Given the description of an element on the screen output the (x, y) to click on. 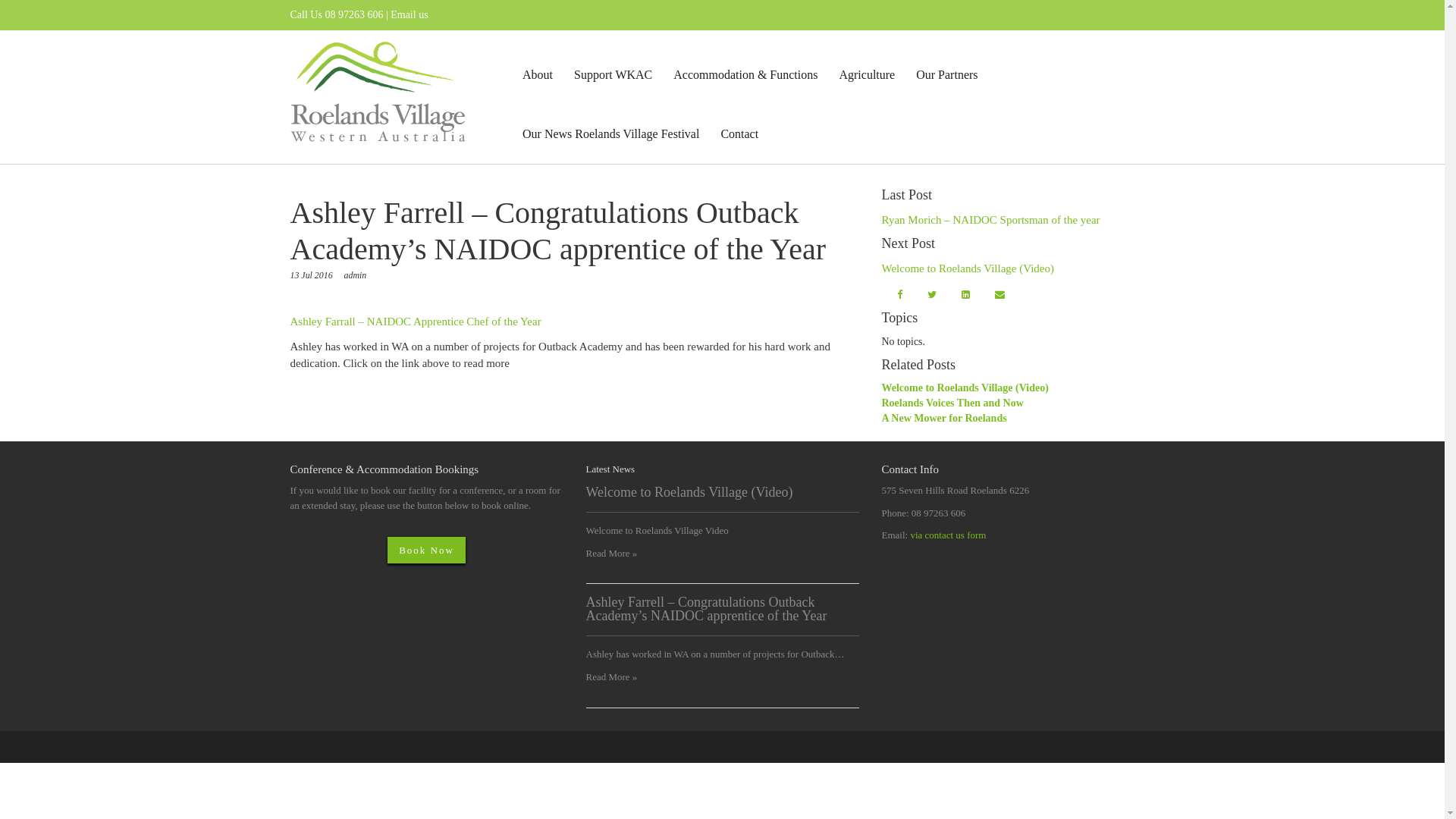
Support WKAC Element type: text (612, 74)
Welcome to Roelands Village (Video) Element type: text (964, 387)
via contact us form Element type: text (947, 534)
Agriculture Element type: text (866, 74)
Roelands Voices Then and Now Element type: text (951, 402)
Our News Roelands Village Festival Element type: text (610, 133)
Contact Element type: text (738, 133)
Accommodation & Functions Element type: text (745, 74)
Book Now Element type: text (426, 549)
A New Mower for Roelands Element type: text (943, 417)
Welcome to Roelands Village (Video) Element type: text (688, 491)
About Element type: text (537, 74)
Email us Element type: text (408, 14)
Welcome to Roelands Village (Video) Element type: text (967, 268)
Our Partners Element type: text (946, 74)
